Given the description of an element on the screen output the (x, y) to click on. 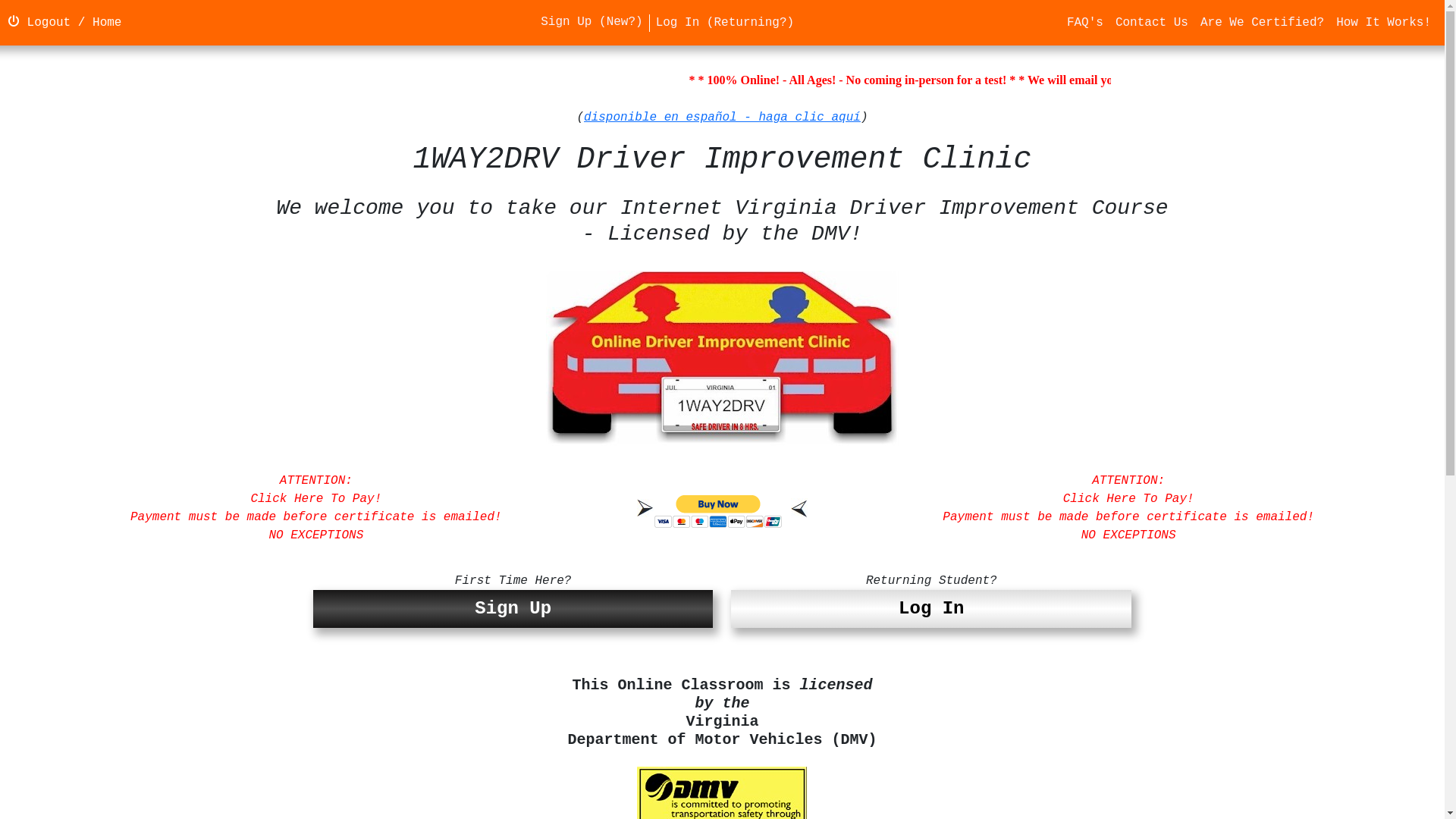
Log In Element type: text (931, 608)
Sign Up (New?) Element type: text (591, 22)
How It Works! Element type: text (1383, 22)
Sign Up Element type: text (513, 610)
Welcome to our online course!! Element type: hover (722, 357)
Logout / Home Element type: text (64, 22)
Sign Up Element type: text (513, 608)
Are We Certified? Element type: text (1262, 22)
FAQ's Element type: text (1084, 22)
Contact Us Element type: text (1151, 22)
Log In (Returning?) Element type: text (724, 22)
